Given the description of an element on the screen output the (x, y) to click on. 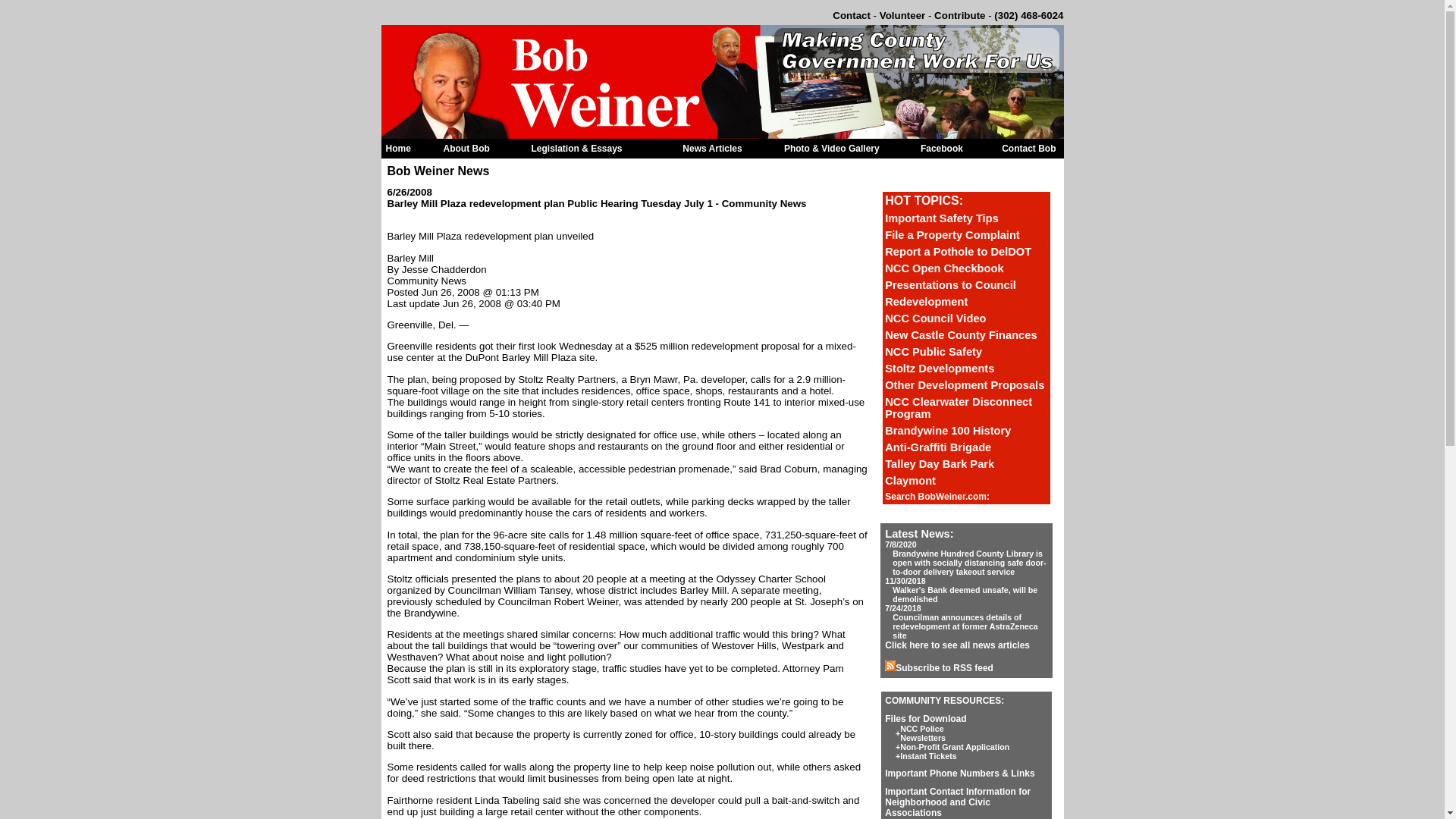
Contact (851, 15)
Stoltz Developments (939, 368)
Facebook (941, 148)
Files for Download (925, 718)
Contribute (959, 15)
Anti-Graffiti Brigade (938, 447)
Walker's Bank deemed unsafe, will be demolished (964, 594)
File a Property Complaint (952, 234)
NCC Clearwater Disconnect Program (958, 407)
